Given the description of an element on the screen output the (x, y) to click on. 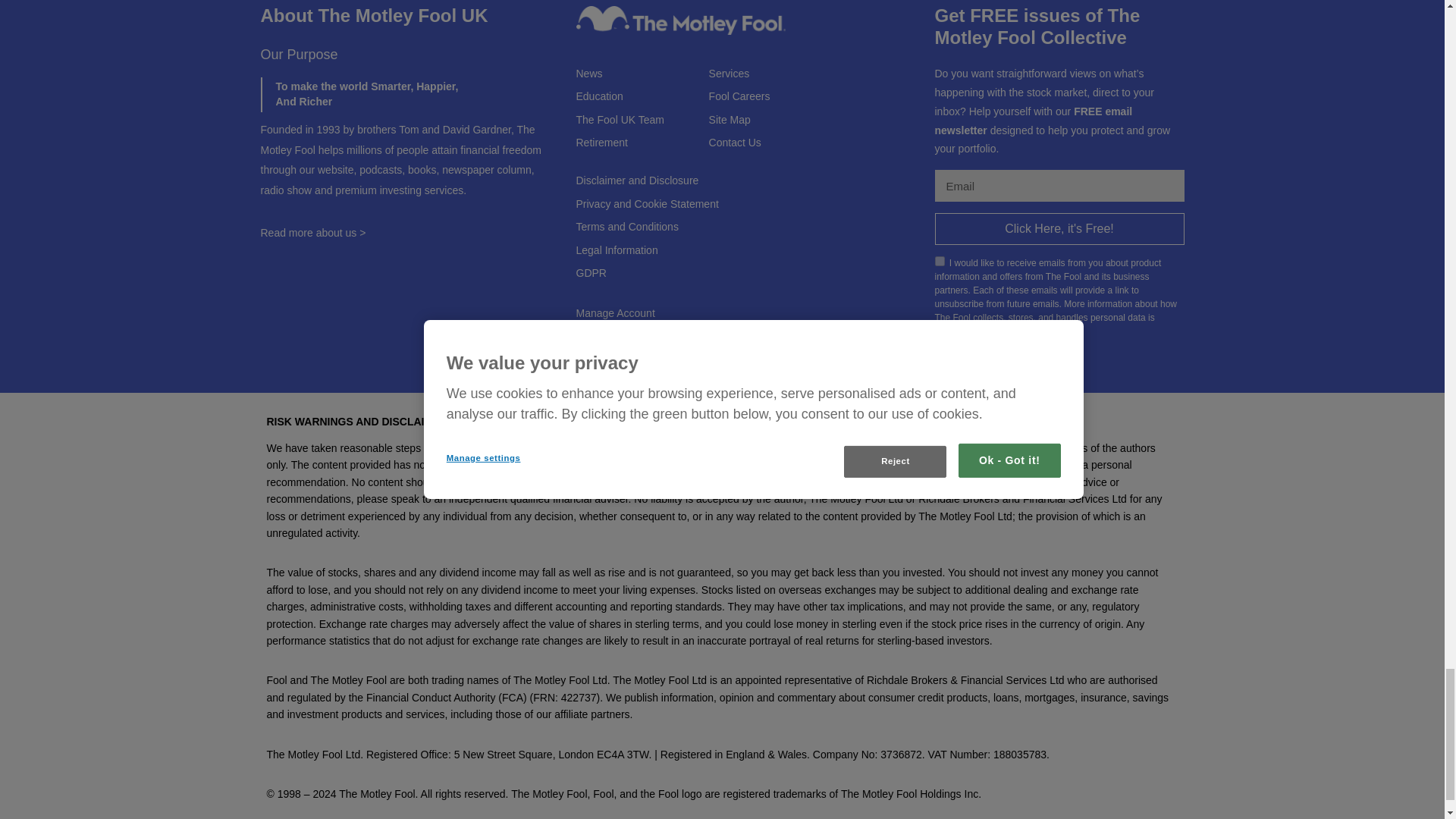
true (938, 261)
